Given the description of an element on the screen output the (x, y) to click on. 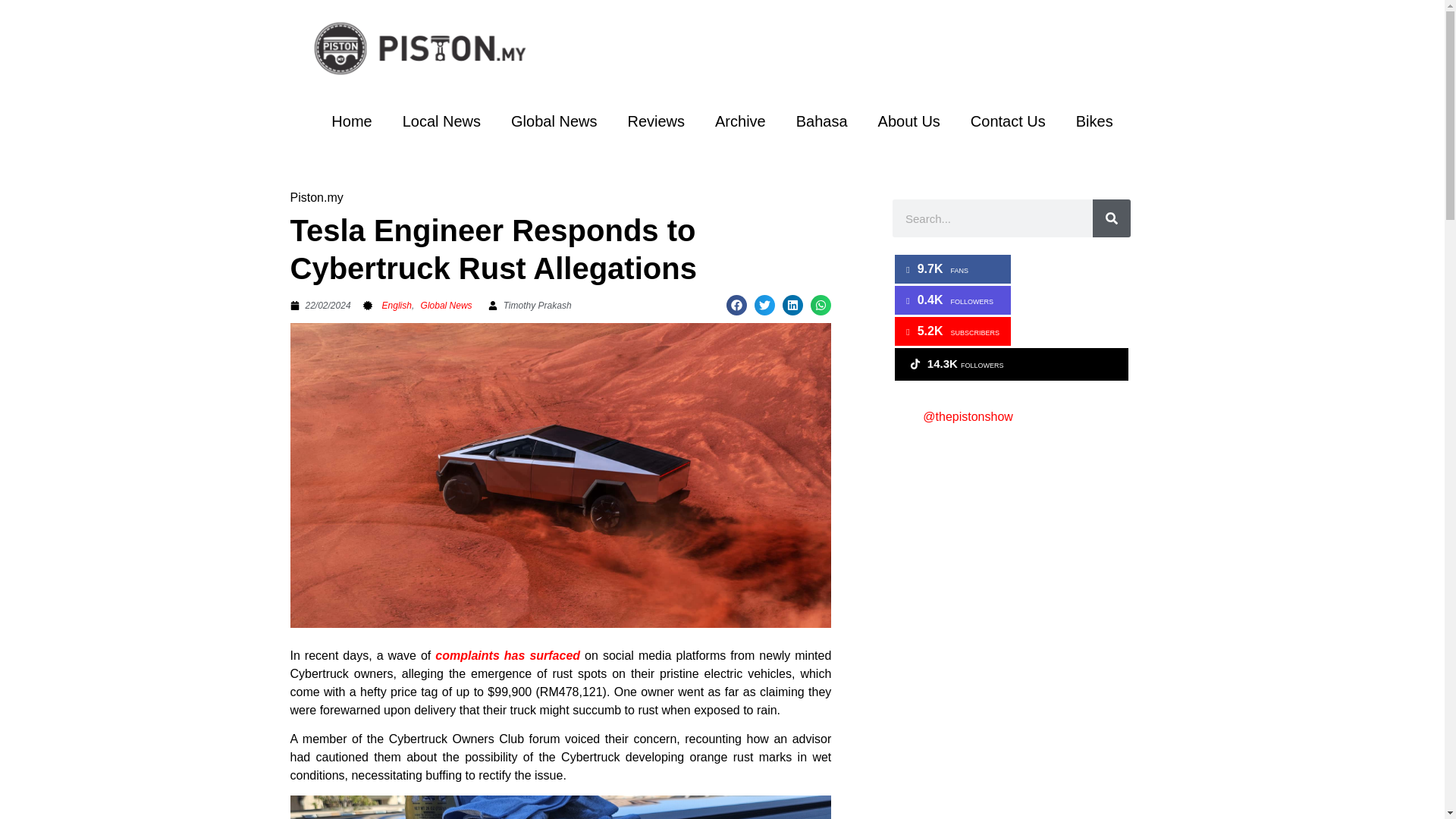
complaints has surfaced (507, 655)
Contact Us (1008, 121)
Bikes (1094, 121)
Global News (553, 121)
Global News (445, 305)
Local News (441, 121)
English (396, 305)
About Us (909, 121)
Bahasa (821, 121)
Reviews (655, 121)
Timothy Prakash (529, 305)
Archive (740, 121)
Home (351, 121)
